Given the description of an element on the screen output the (x, y) to click on. 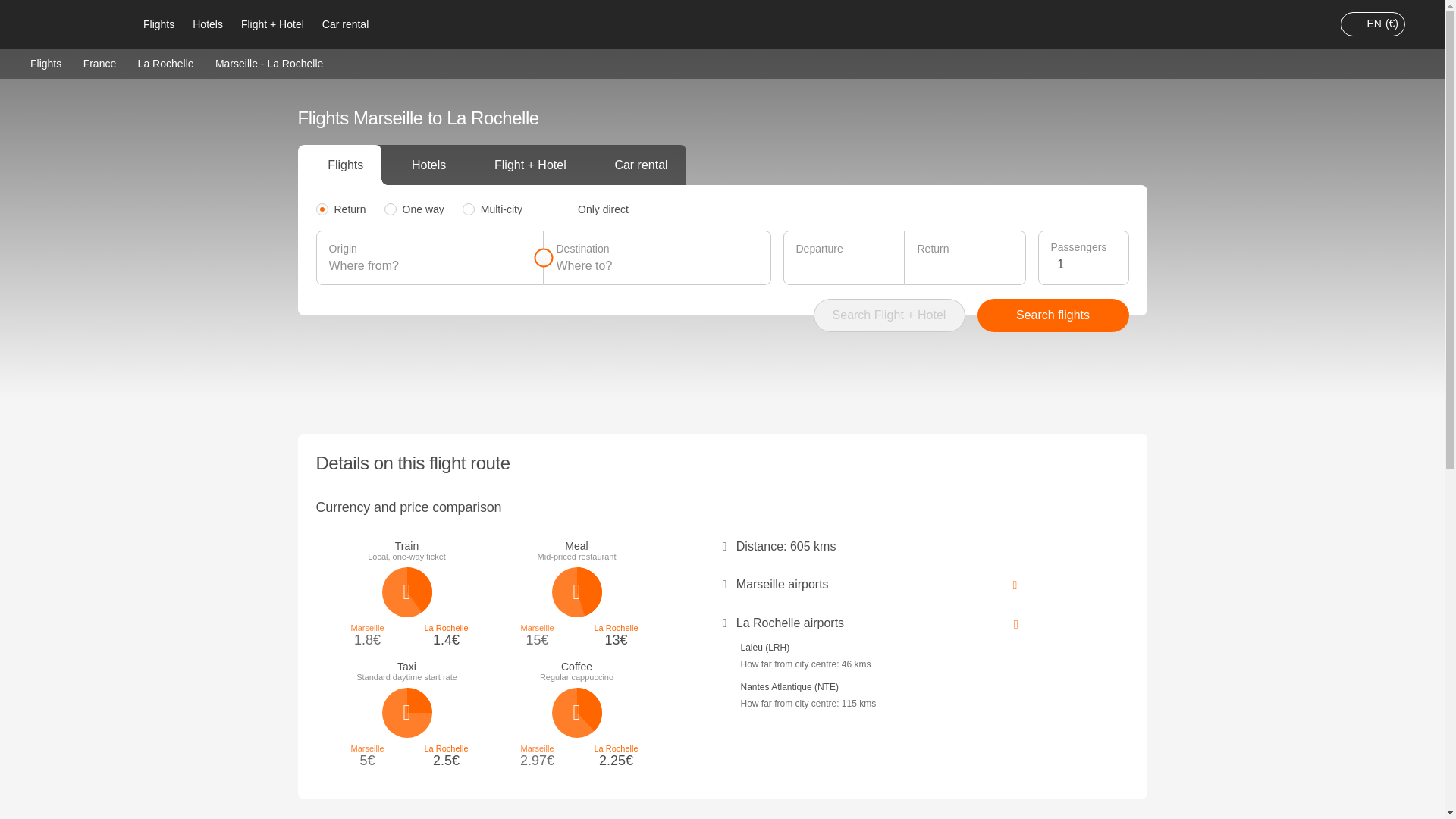
Search flights (1052, 315)
France (99, 62)
Car rental (345, 24)
Marseille - La Rochelle (269, 63)
Hotels (207, 24)
Flights (45, 62)
Flights (158, 24)
1 (1086, 263)
La Rochelle (165, 62)
